Given the description of an element on the screen output the (x, y) to click on. 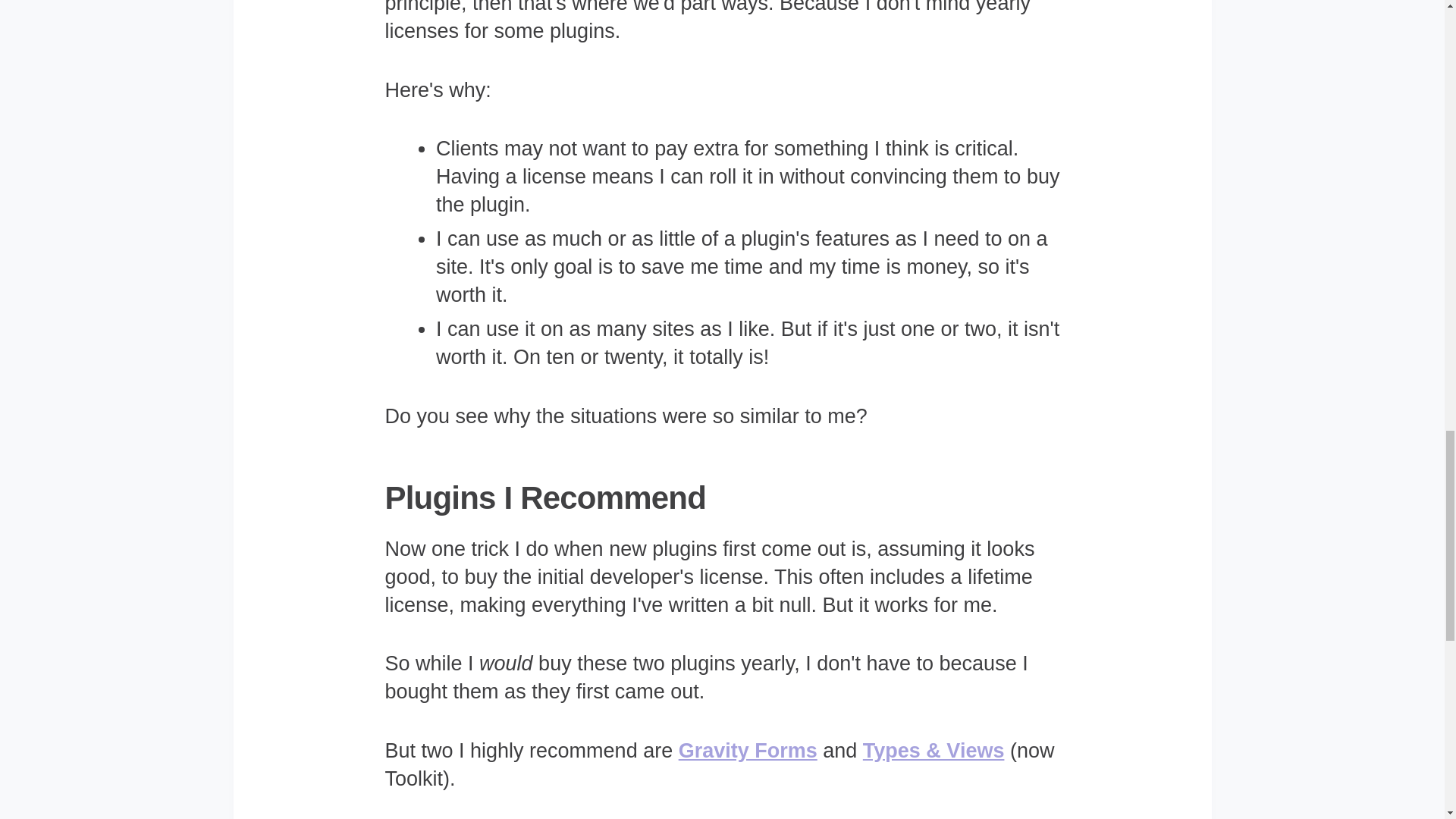
Gravity Forms (747, 750)
Chris recommends Toolkit (933, 750)
Chris recommends Gravity Forms (747, 750)
